Given the description of an element on the screen output the (x, y) to click on. 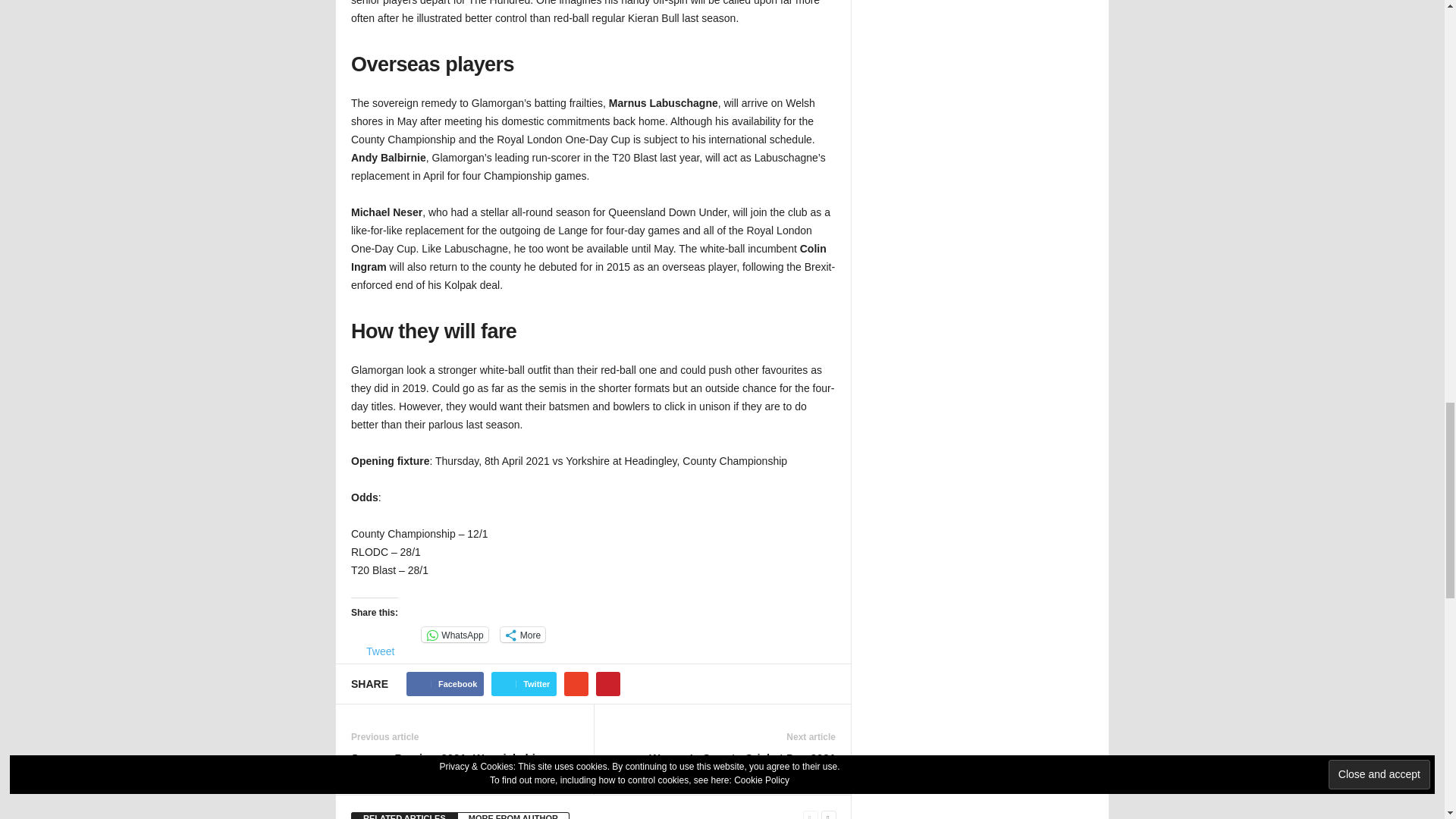
Click to share on WhatsApp (454, 634)
More (522, 634)
WhatsApp (454, 634)
